Given the description of an element on the screen output the (x, y) to click on. 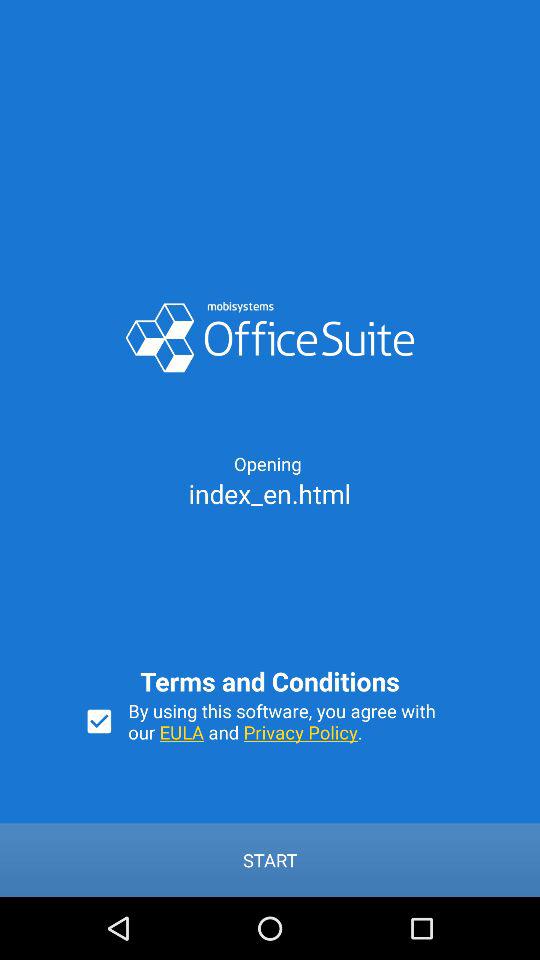
turn on the item at the bottom left corner (99, 721)
